Given the description of an element on the screen output the (x, y) to click on. 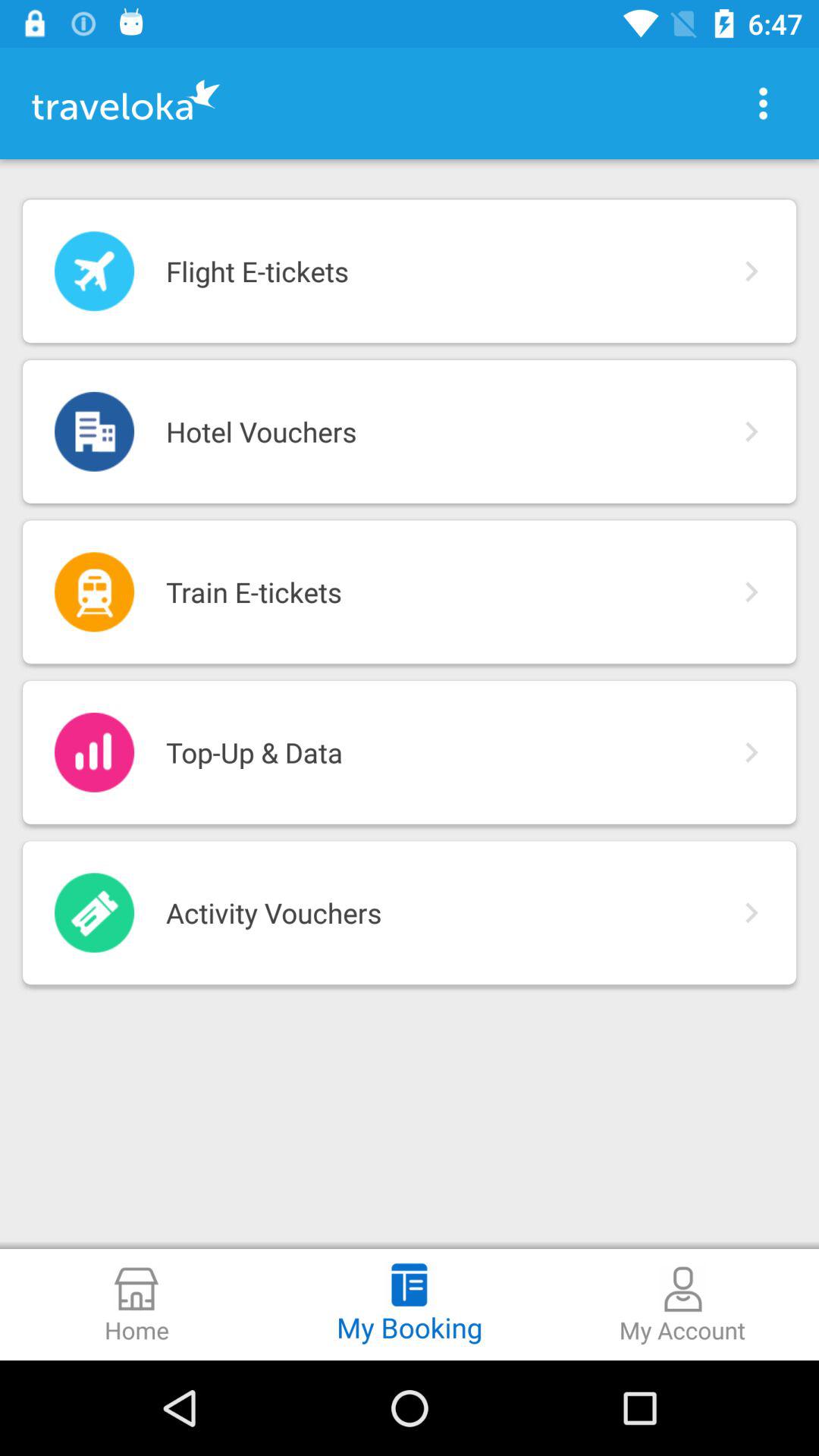
click item above flight e-tickets item (763, 103)
